Given the description of an element on the screen output the (x, y) to click on. 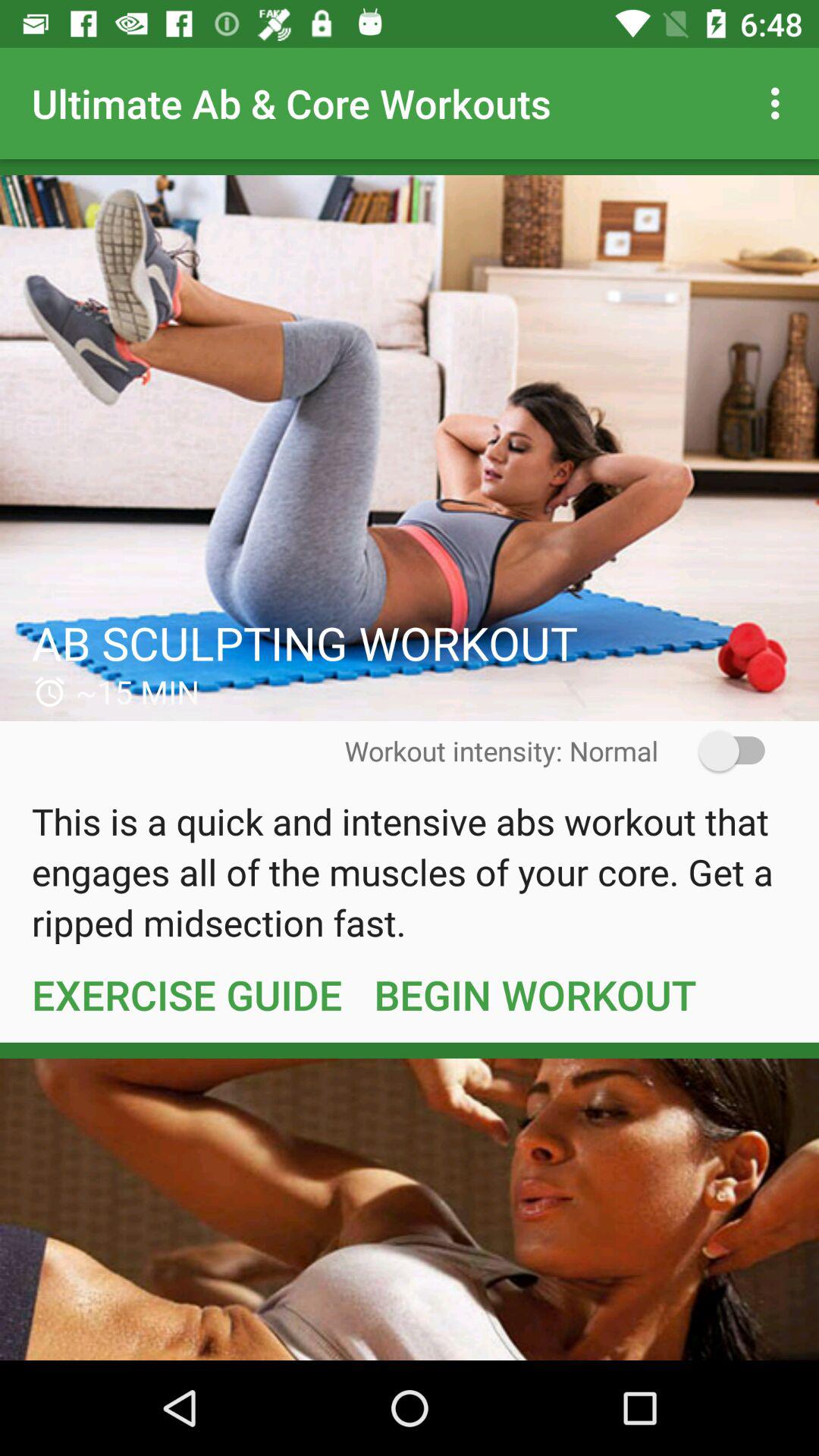
toggle workout intensity (722, 750)
